Given the description of an element on the screen output the (x, y) to click on. 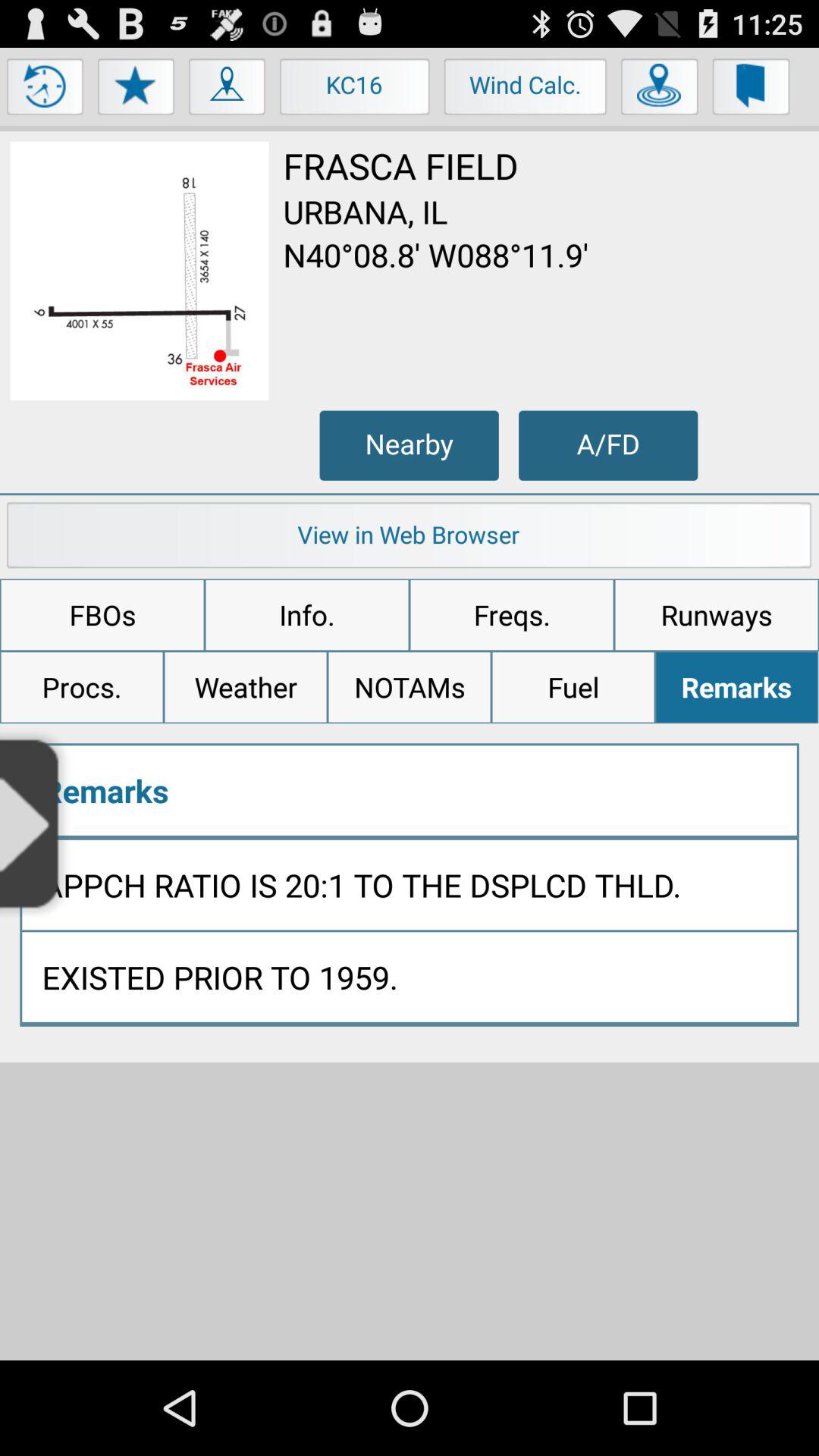
menu button (136, 90)
